Given the description of an element on the screen output the (x, y) to click on. 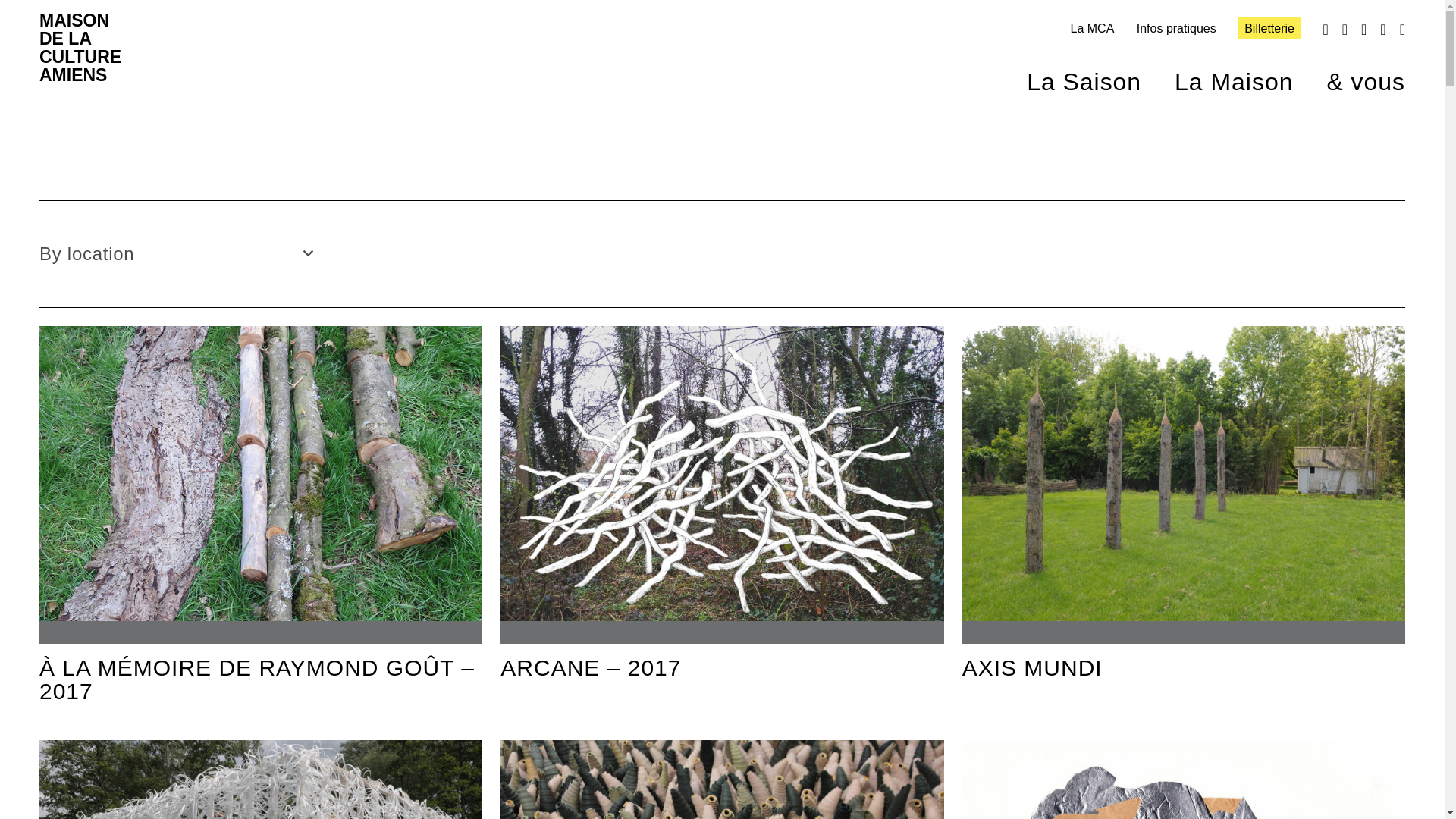
Infos pratiques (1176, 28)
La MCA (1092, 28)
La Maison (1216, 73)
Billetterie (1269, 28)
La Saison (1066, 73)
